Given the description of an element on the screen output the (x, y) to click on. 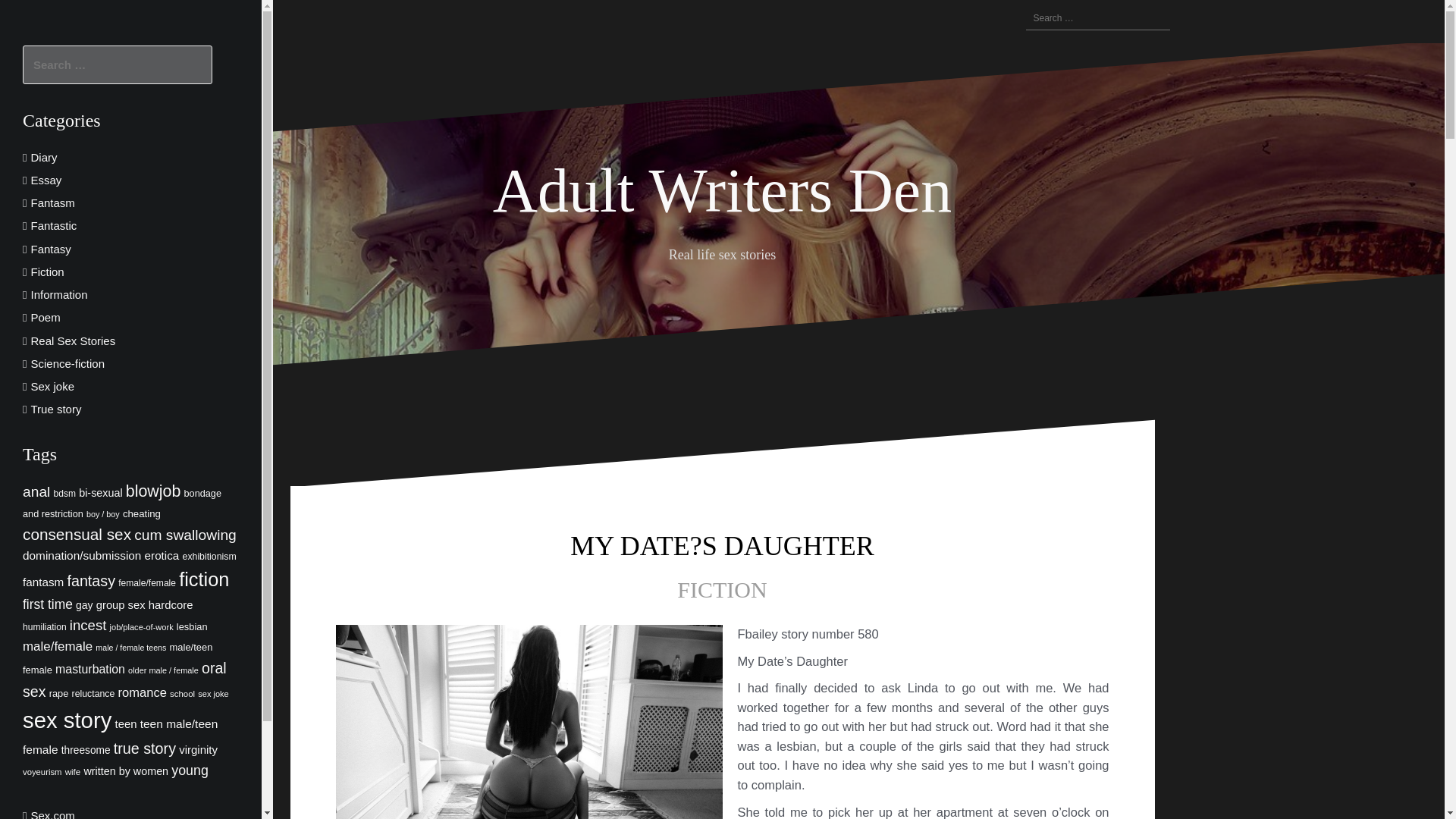
Poem (44, 317)
Information (58, 294)
Science-fiction (67, 363)
Real Sex Stories (72, 340)
Diary (43, 156)
Adult Writers Den (722, 190)
FICTION (722, 589)
Search (30, 20)
Fantasy (49, 248)
Fiction (47, 271)
Fantasm (52, 202)
Essay (45, 179)
Fantastic (53, 225)
